Given the description of an element on the screen output the (x, y) to click on. 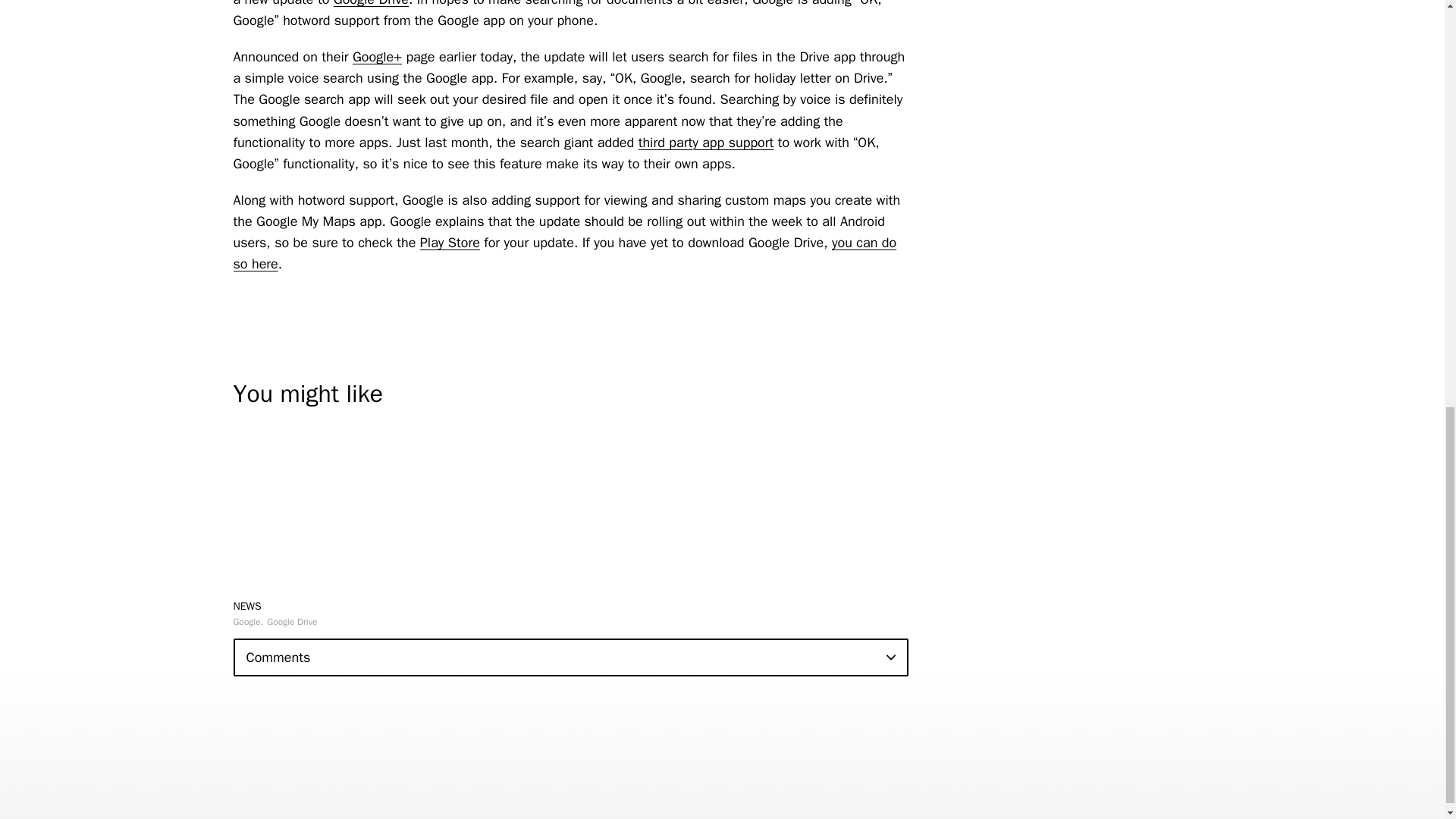
you can do so here (564, 252)
Google Drive (371, 3)
Play Store (450, 242)
third party app support (706, 142)
Google (247, 621)
Comments (570, 657)
Google Drive (291, 621)
NEWS (247, 605)
